Given the description of an element on the screen output the (x, y) to click on. 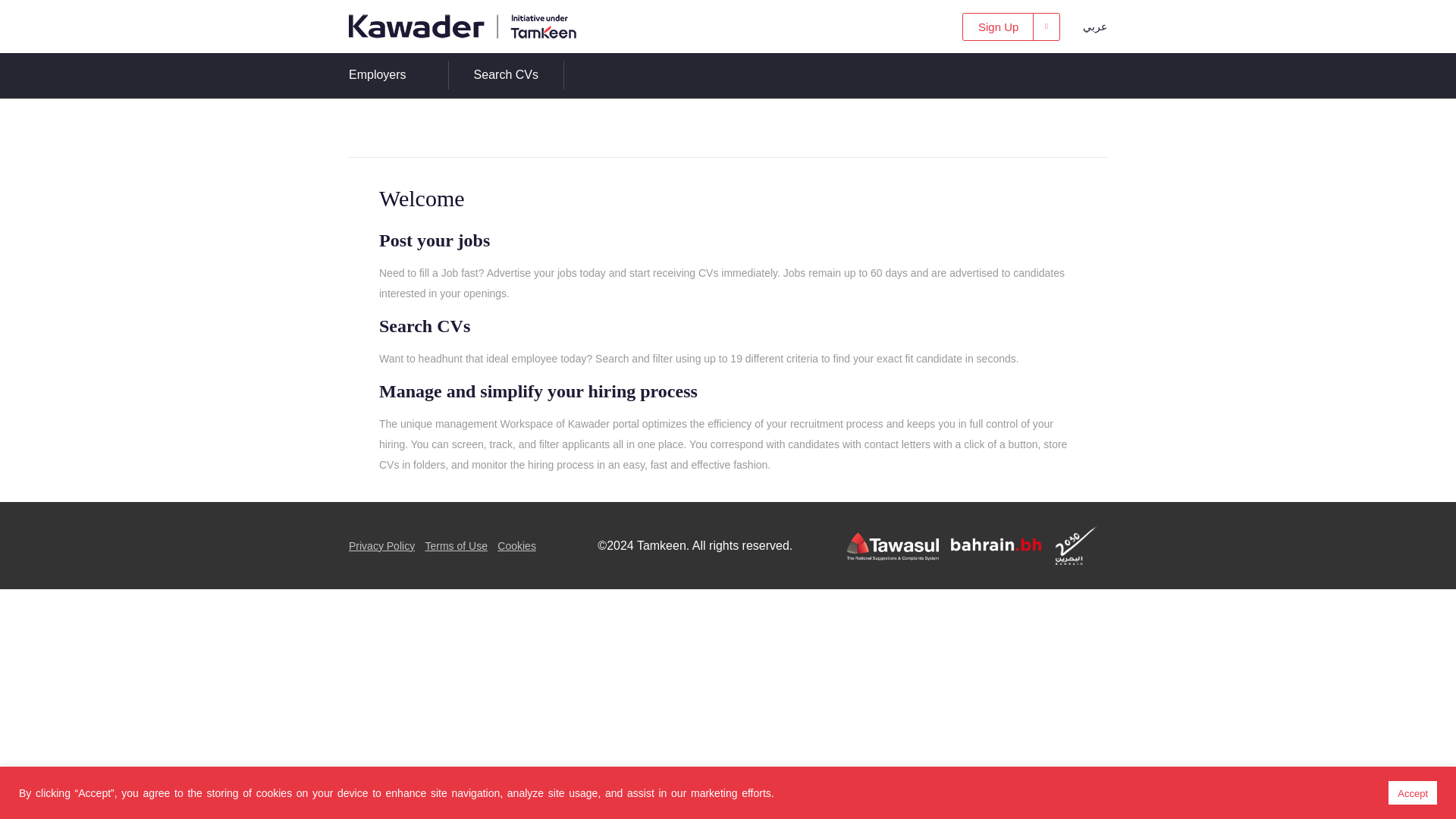
Employers (377, 74)
Terms of Use (455, 545)
Cookies (516, 545)
Search CVs (424, 325)
Sign Up (1010, 26)
Privacy Policy (381, 545)
Manage and simplify your hiring process (537, 391)
Post your jobs (433, 240)
Search CVs (506, 74)
